Given the description of an element on the screen output the (x, y) to click on. 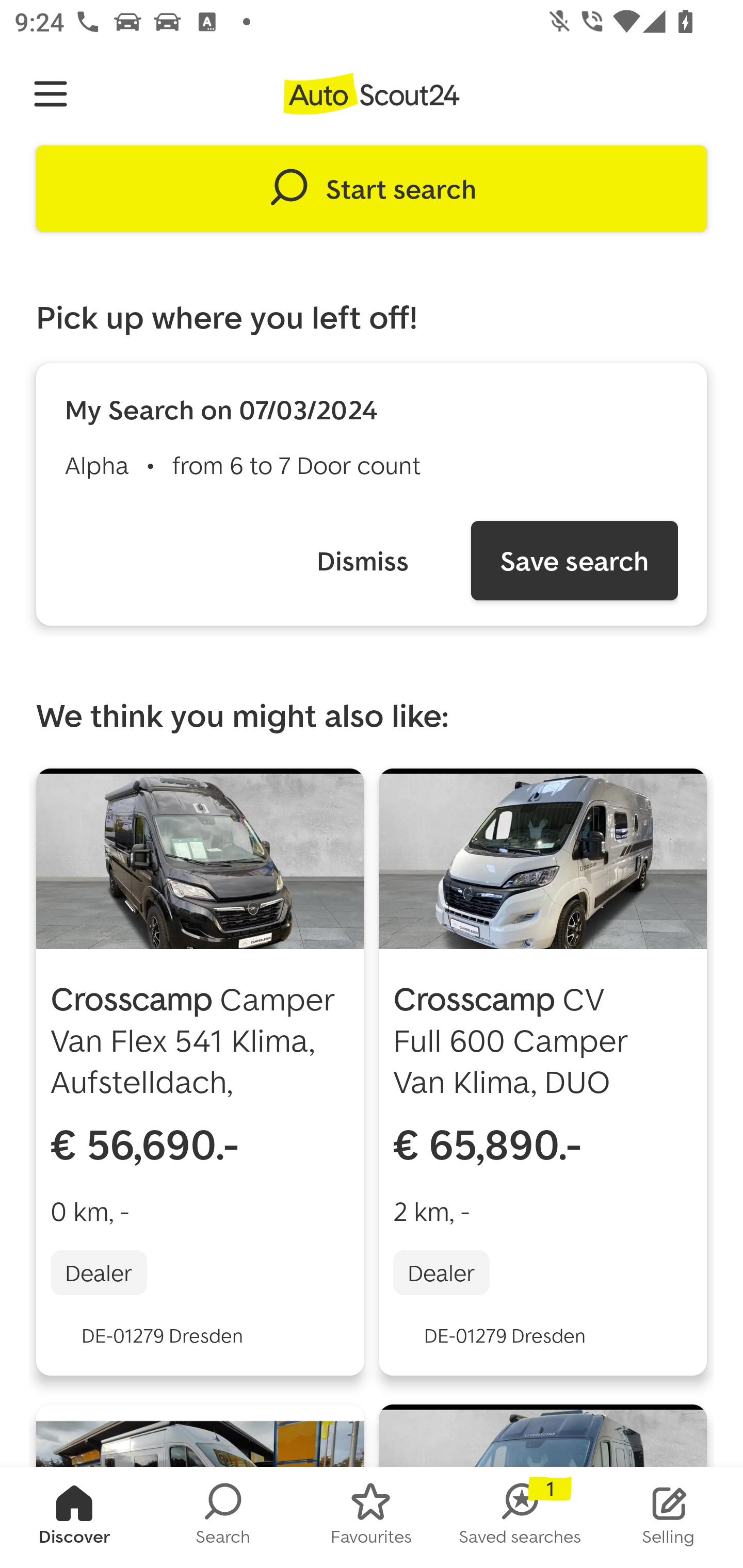
Navigate up (50, 93)
Start search (371, 188)
Dismiss (362, 560)
Save search (574, 560)
HOMESCREEN Discover (74, 1517)
SEARCH Search (222, 1517)
FAVORITES Favourites (371, 1517)
SAVED_SEARCHES Saved searches 1 (519, 1517)
STOCK_LIST Selling (668, 1517)
